Given the description of an element on the screen output the (x, y) to click on. 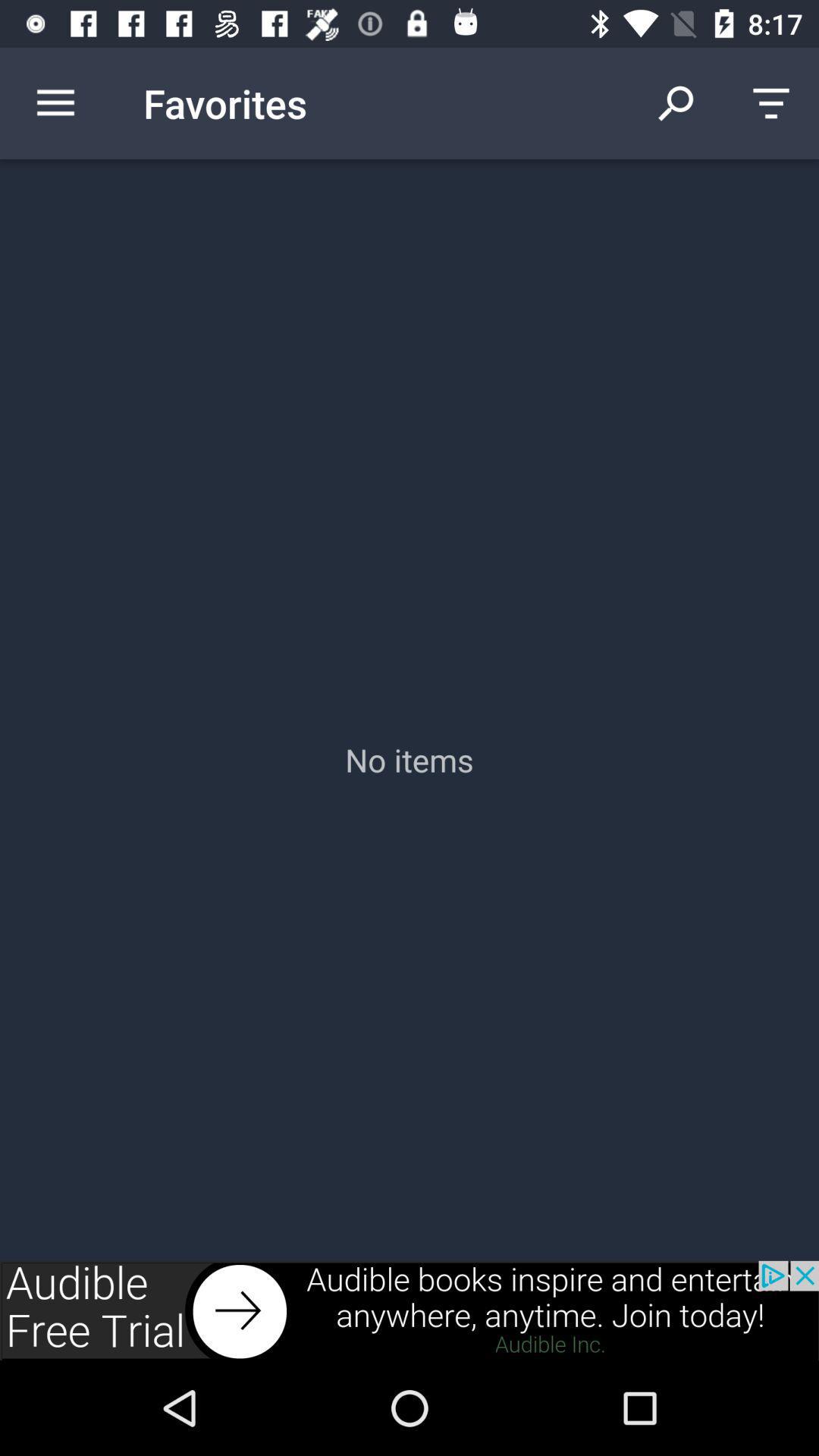
advertisement (409, 1310)
